Given the description of an element on the screen output the (x, y) to click on. 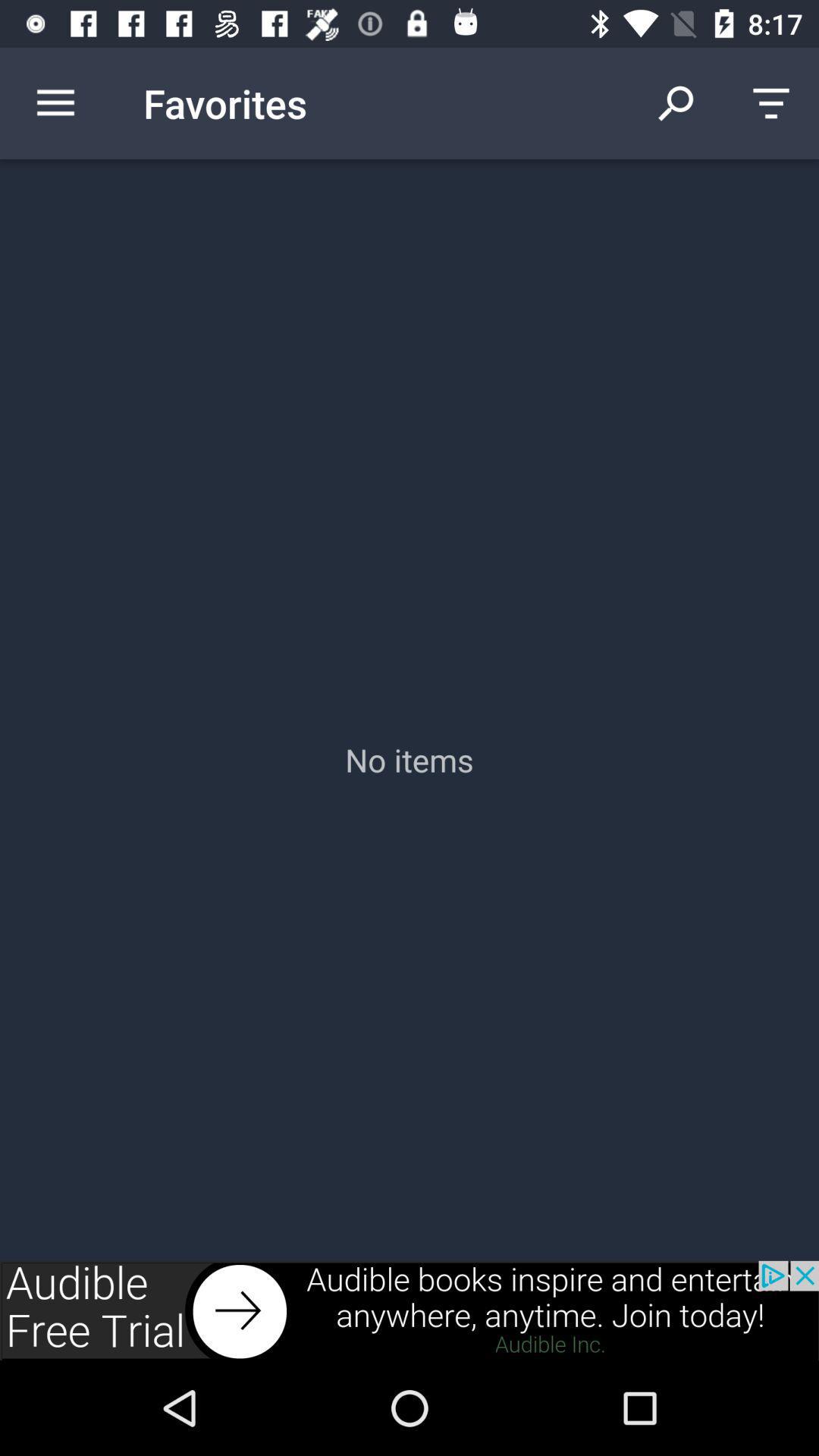
advertisement (409, 1310)
